Given the description of an element on the screen output the (x, y) to click on. 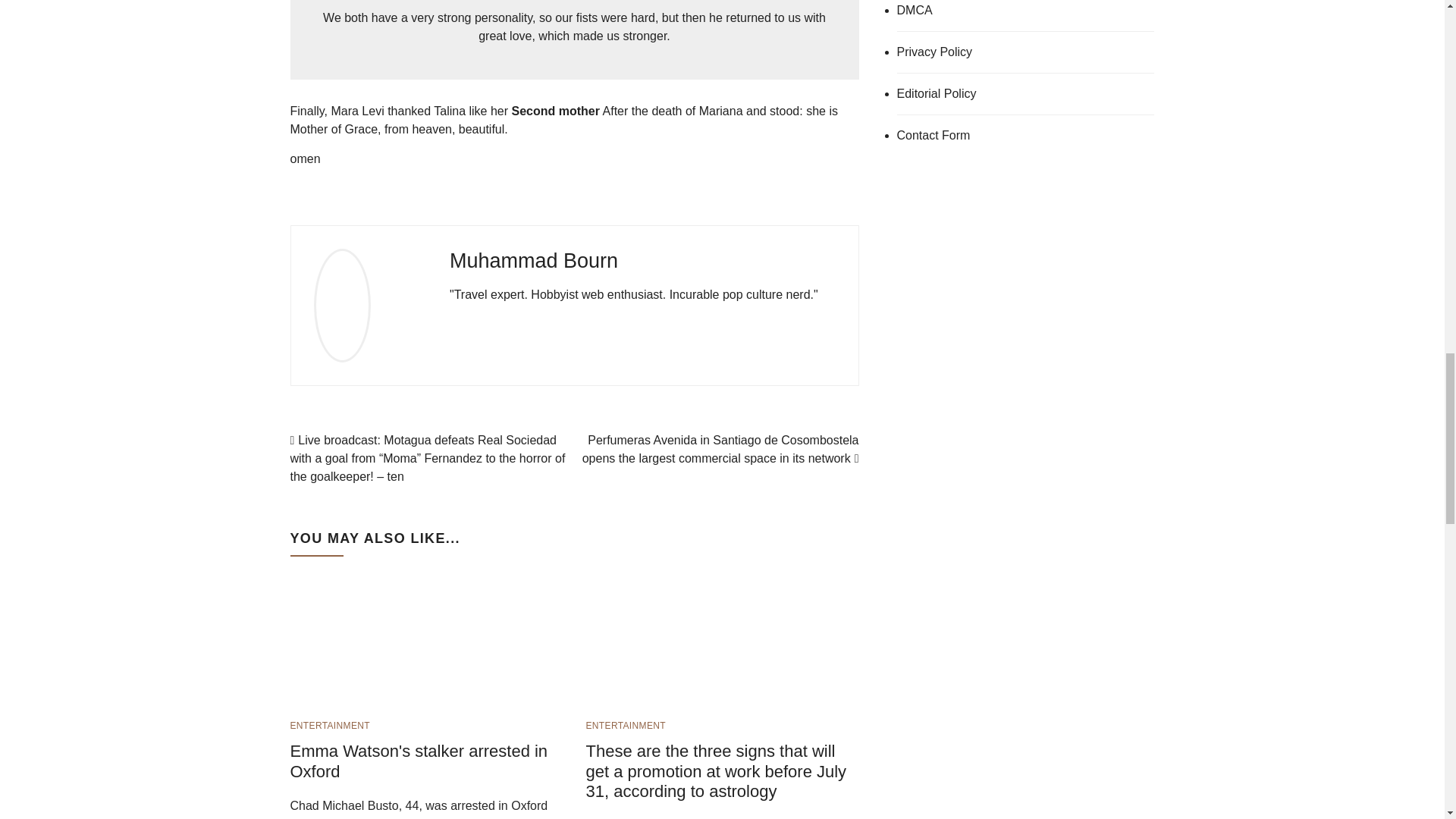
Emma Watson's stalker arrested in Oxford (418, 761)
Emma Watson's stalker arrested in Oxford (402, 635)
ENTERTAINMENT (625, 725)
ENTERTAINMENT (329, 725)
